Given the description of an element on the screen output the (x, y) to click on. 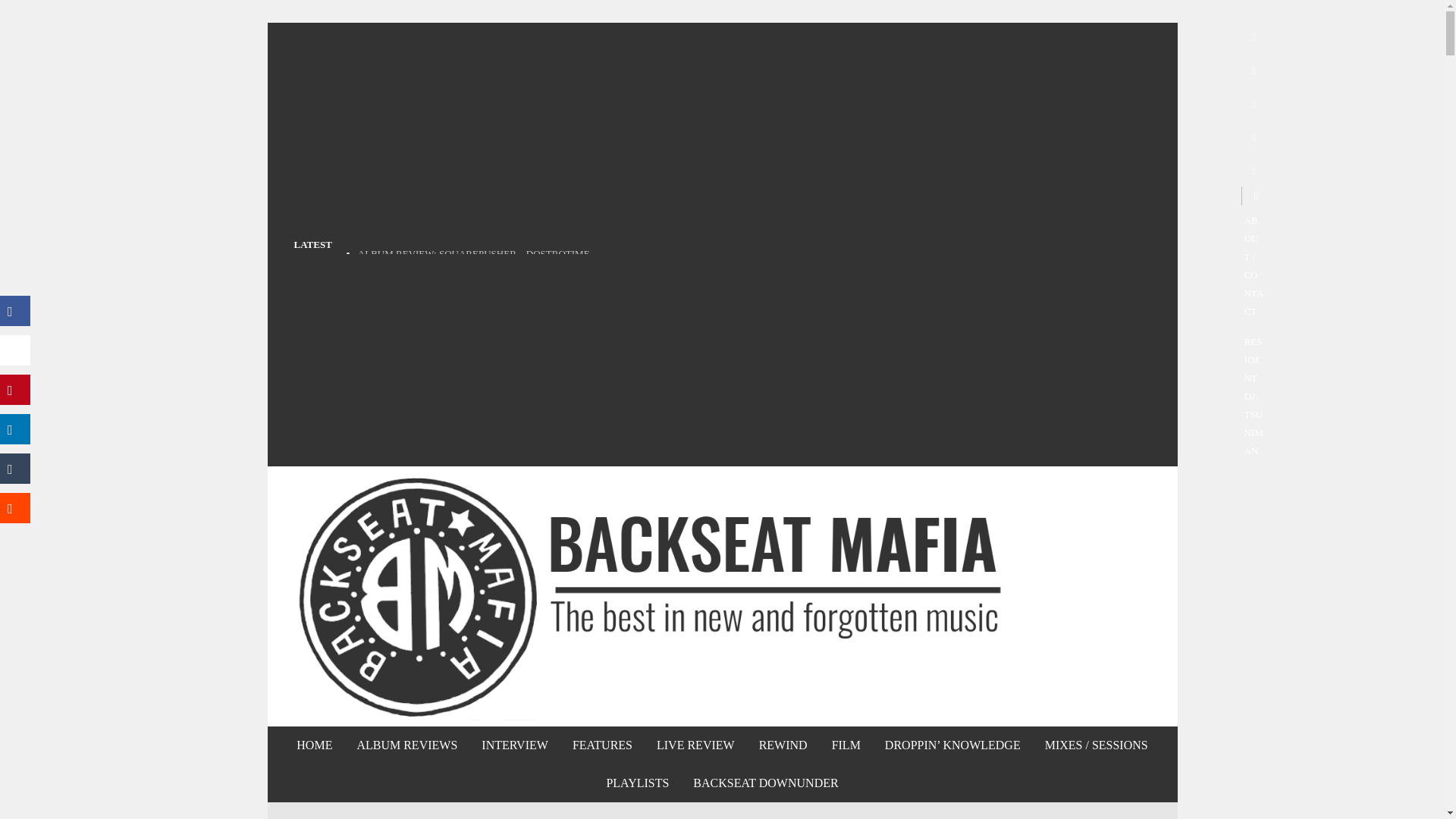
LIVE REVIEW (695, 745)
PLAYLISTS (637, 783)
FILM (845, 745)
REWIND (782, 745)
FEATURES (602, 745)
INTERVIEW (514, 745)
ALBUM REVIEWS (405, 745)
HOME (313, 745)
